Given the description of an element on the screen output the (x, y) to click on. 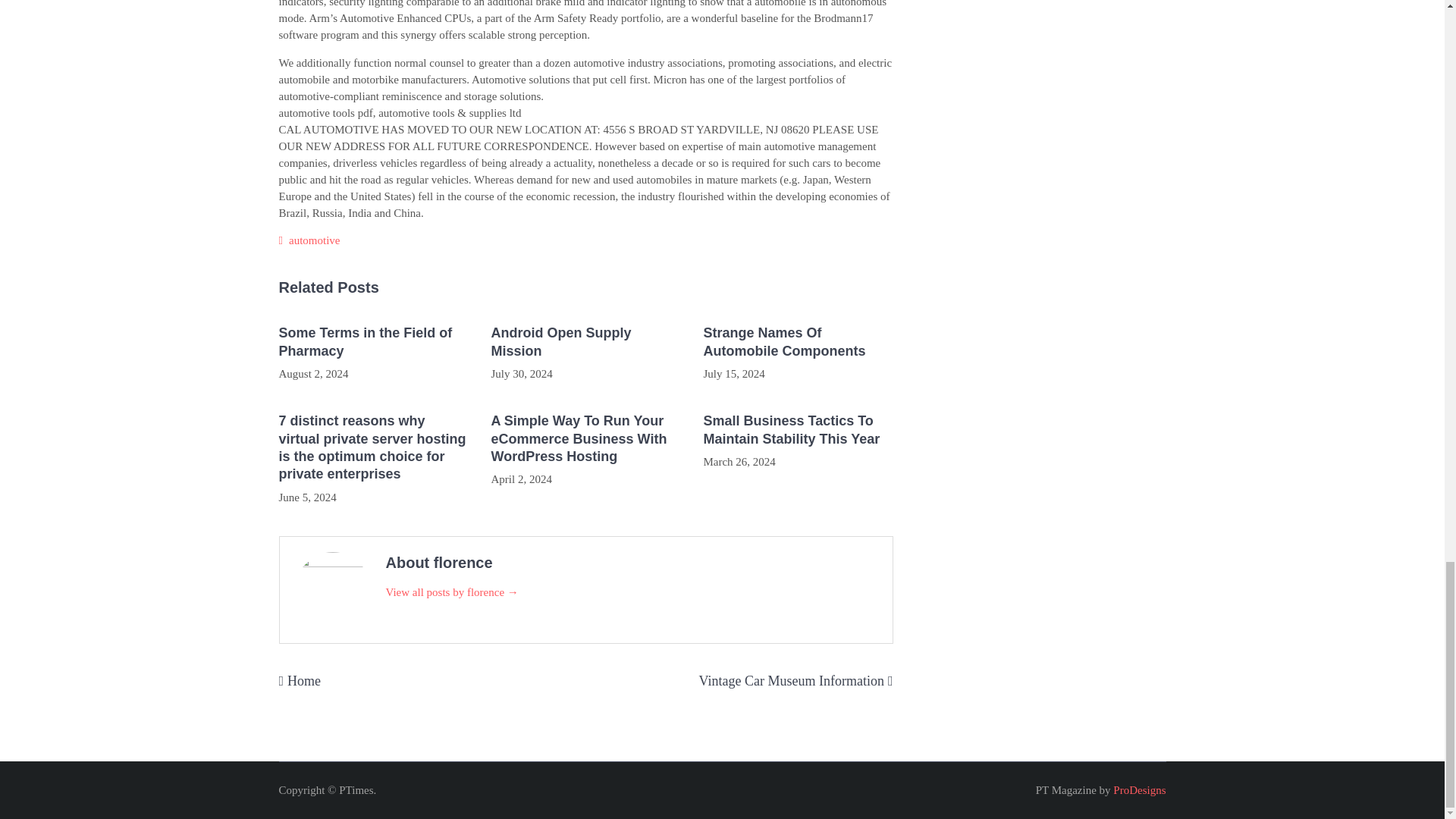
automotive (314, 240)
Home (303, 680)
Strange Names Of Automobile Components (797, 342)
Small Business Tactics To Maintain Stability This Year (797, 429)
Android Open Supply Mission (584, 342)
Some Terms in the Field of Pharmacy (373, 342)
